Given the description of an element on the screen output the (x, y) to click on. 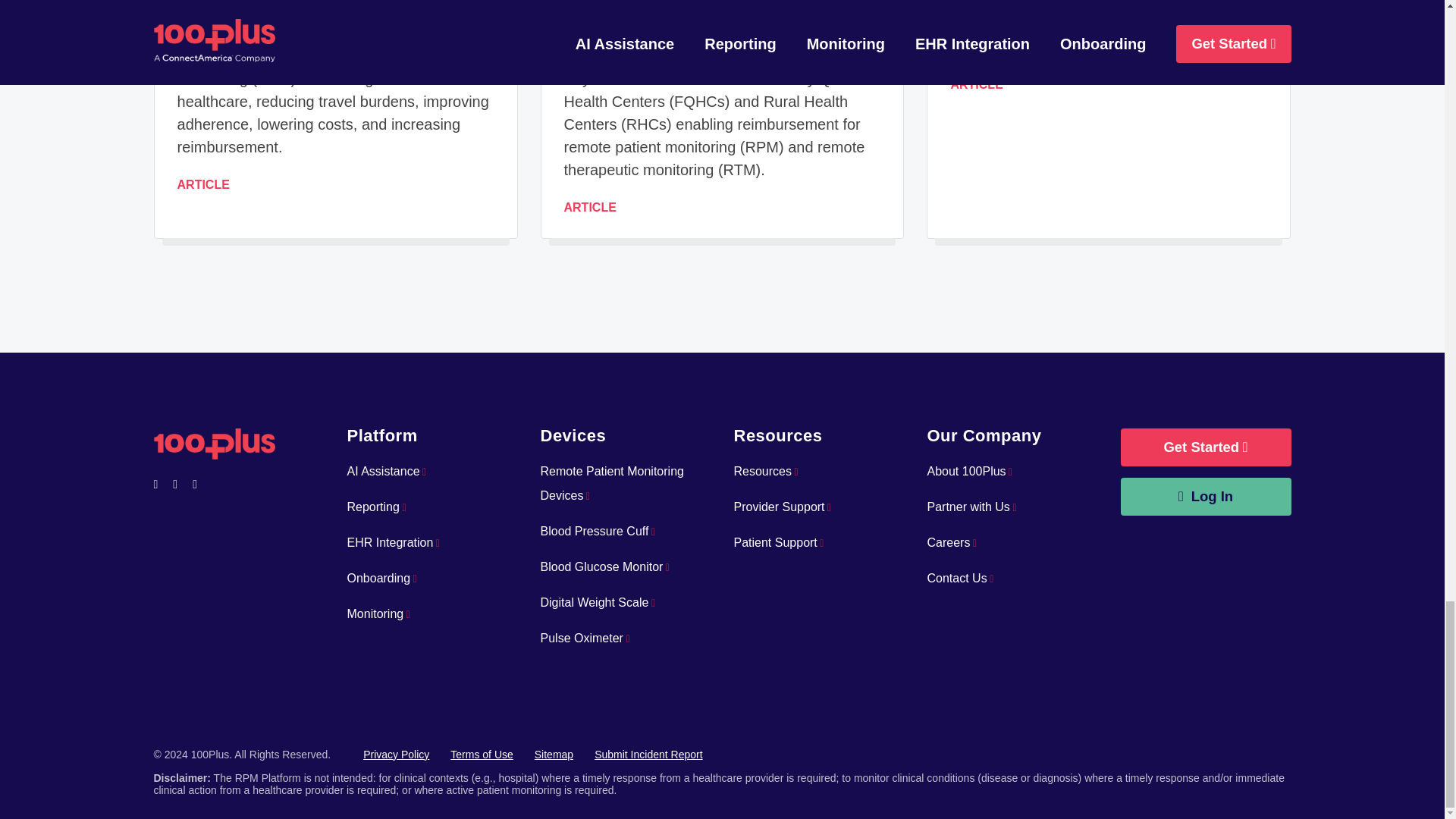
Back to home (213, 439)
